Given the description of an element on the screen output the (x, y) to click on. 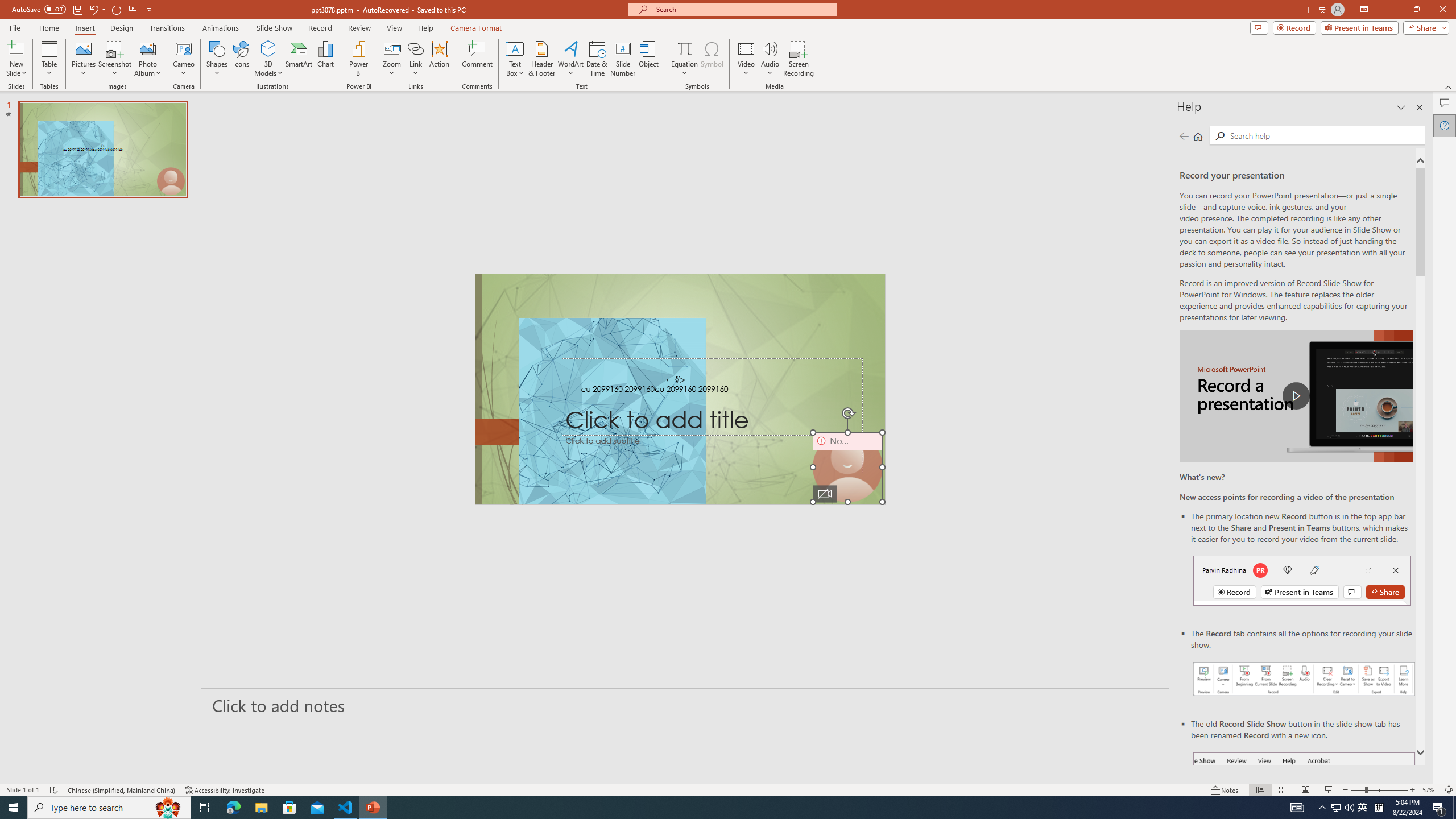
Power BI (358, 58)
An abstract genetic concept (680, 389)
Object... (649, 58)
